Given the description of an element on the screen output the (x, y) to click on. 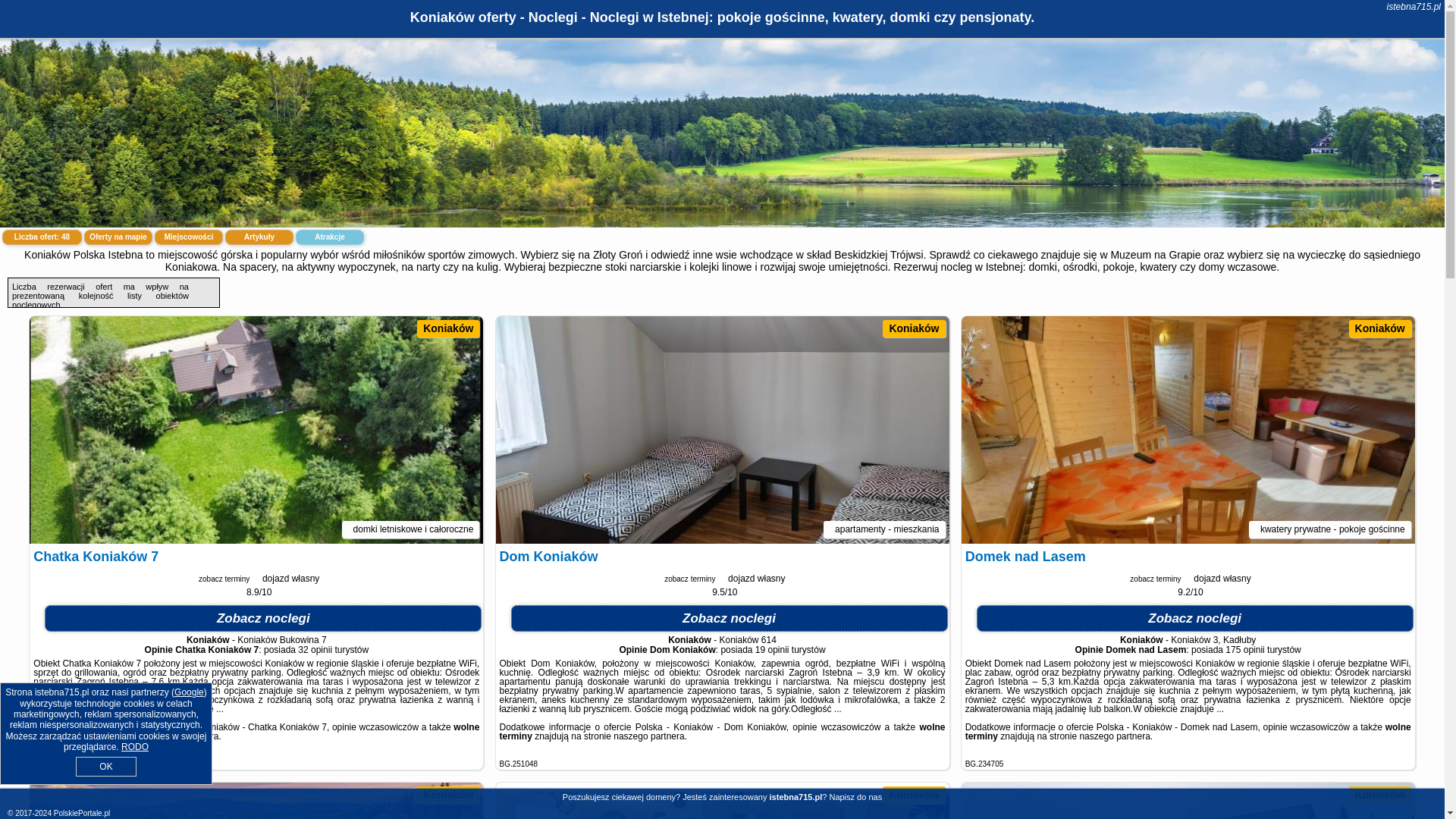
32 opinii (314, 649)
naszego partnera (183, 736)
Oferty na mapie (118, 237)
Oferty na mapie (118, 237)
naszego partnera (1114, 736)
home page (1414, 6)
Zobacz noclegi (1194, 618)
175 opinii (1244, 649)
Zobacz noclegi (729, 618)
Atrakcje (329, 237)
zobacz terminy (220, 578)
zobacz terminy (223, 578)
zobacz terminy (688, 578)
zobacz terminy (687, 578)
Oferta naszego partnera: Booking.com (518, 764)
